Given the description of an element on the screen output the (x, y) to click on. 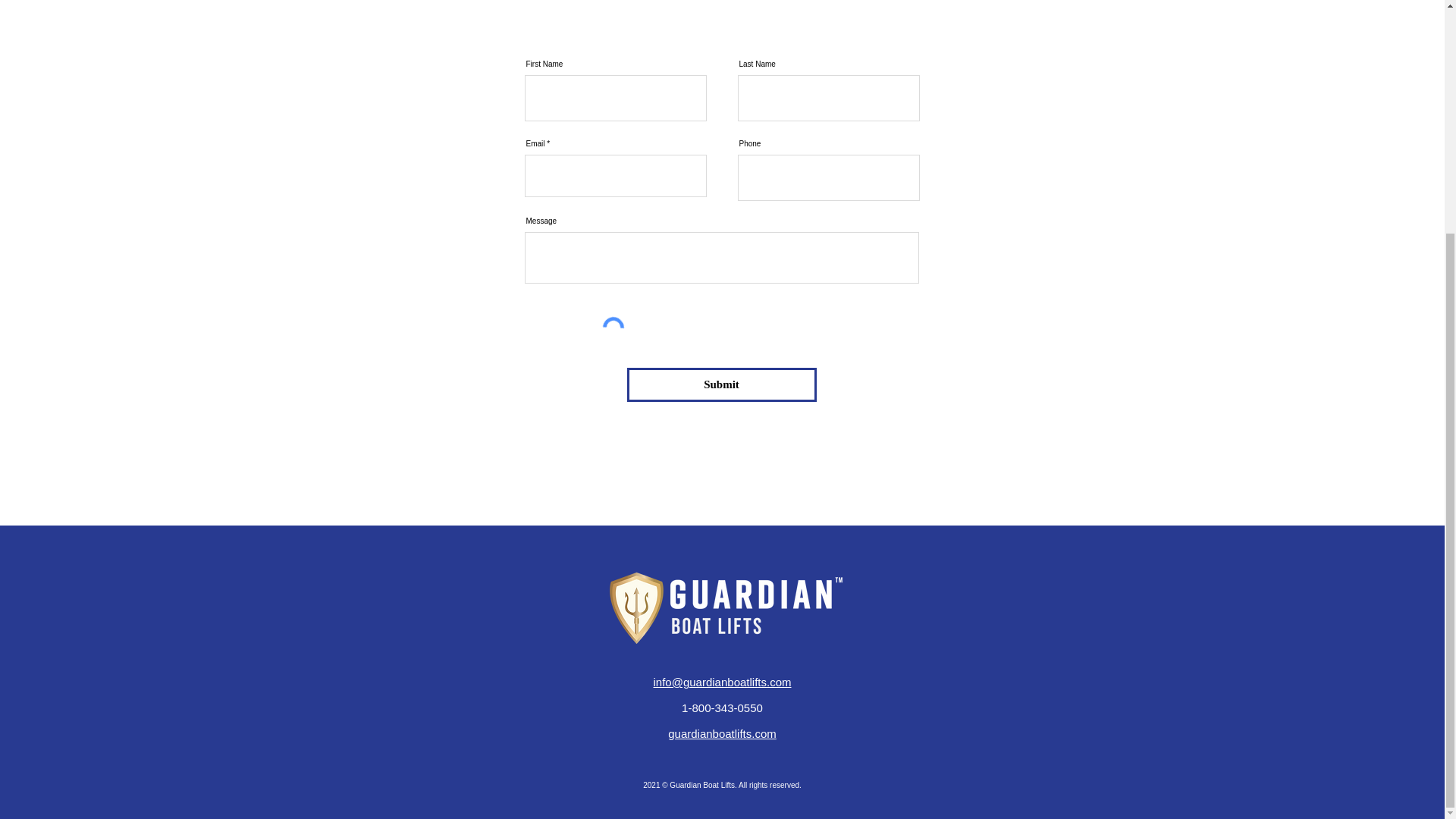
guardianboatlifts.com (722, 733)
Submit (720, 384)
